Given the description of an element on the screen output the (x, y) to click on. 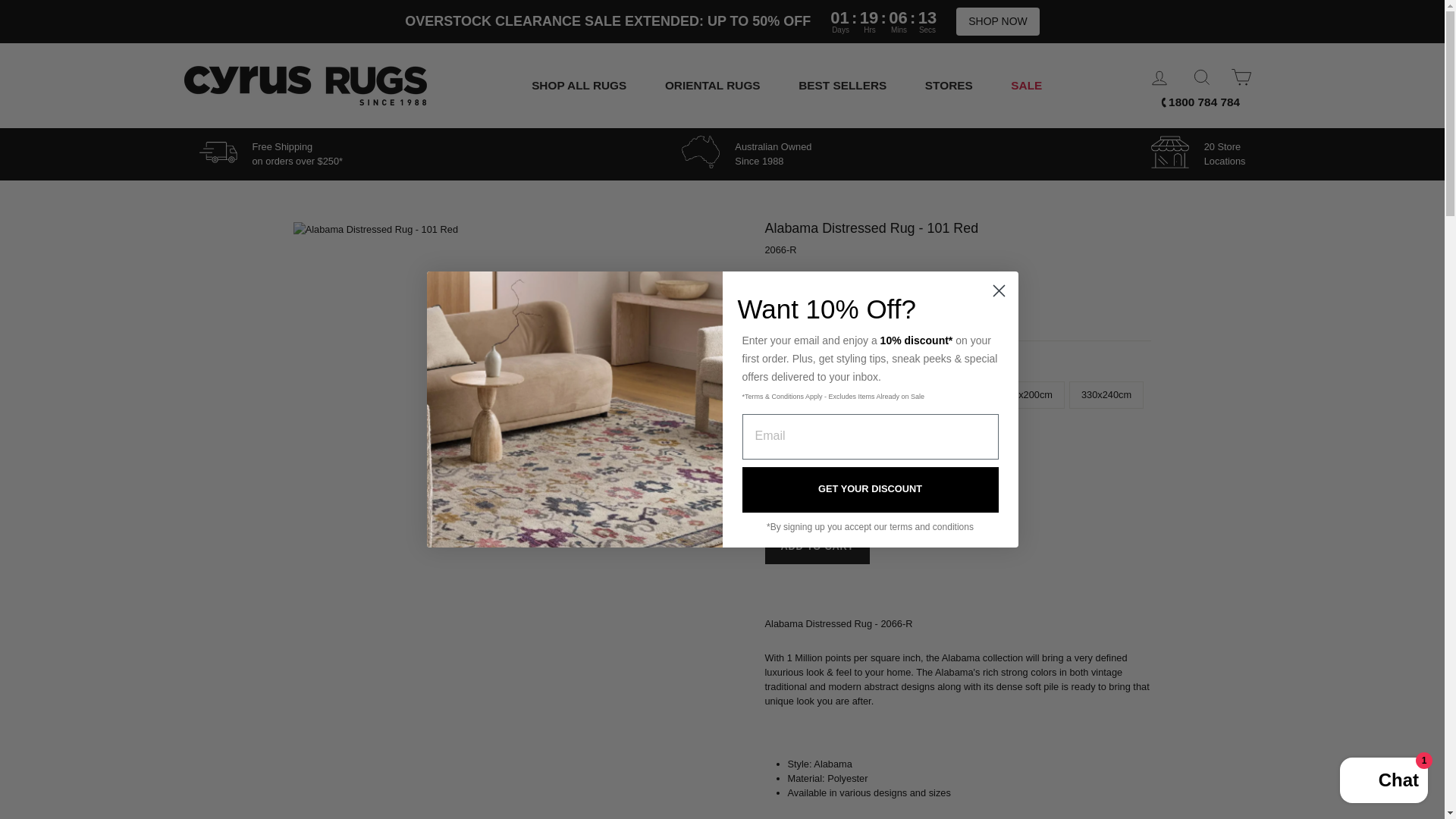
Shopify online store chat (1383, 781)
SHOP NOW (997, 21)
